Given the description of an element on the screen output the (x, y) to click on. 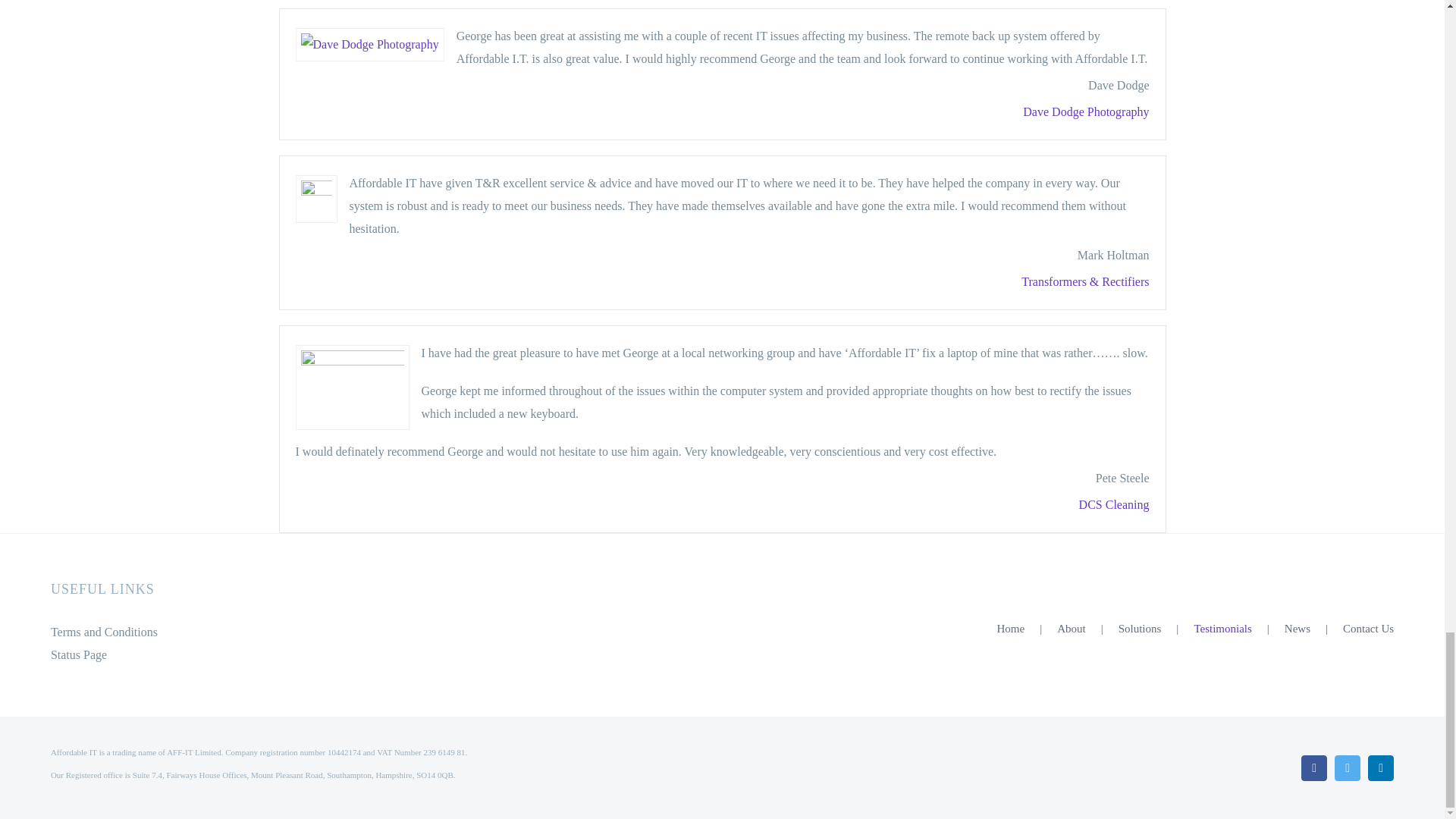
Twitter (1347, 768)
LinkedIn (1380, 768)
Facebook (1313, 768)
